Given the description of an element on the screen output the (x, y) to click on. 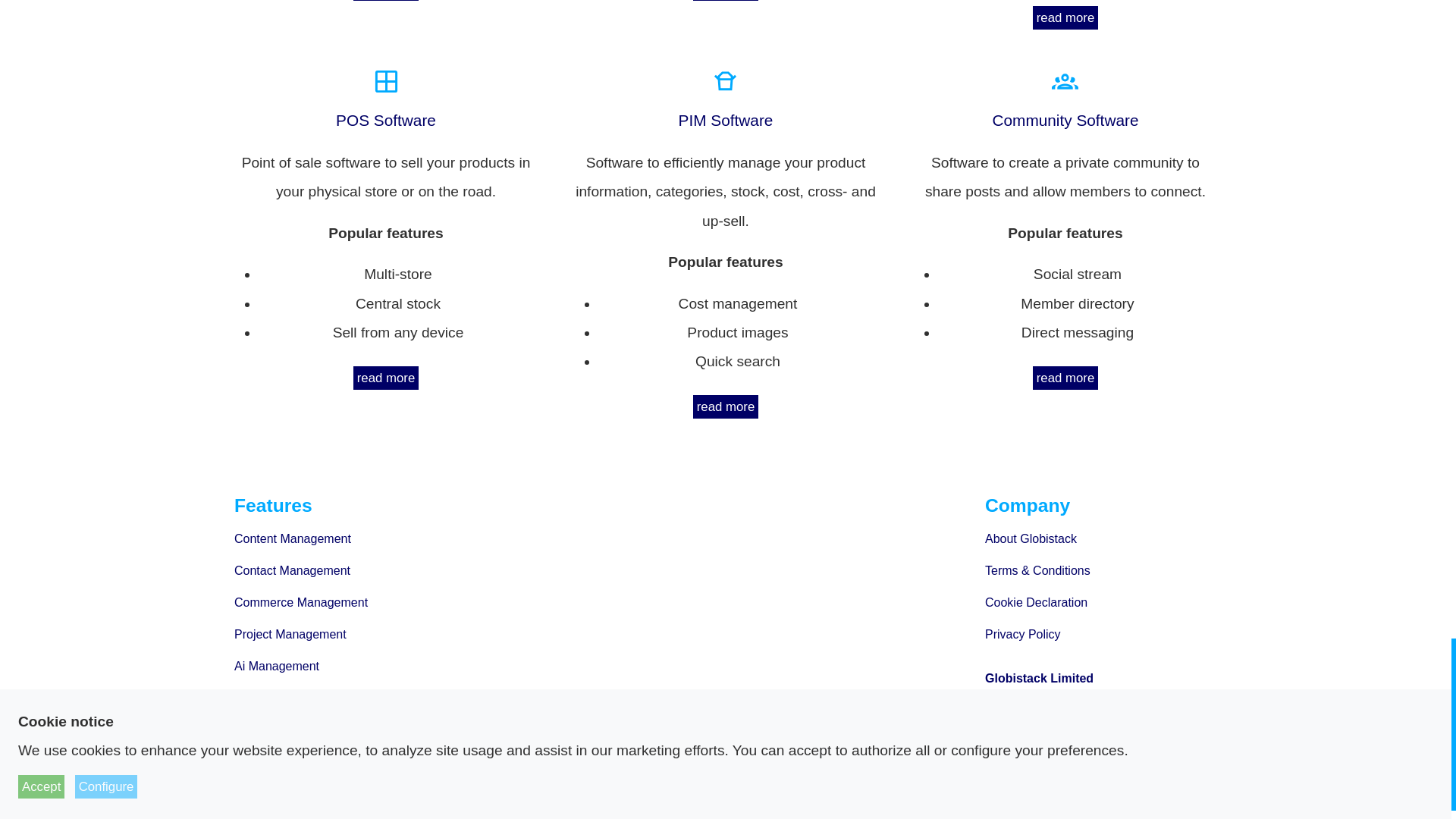
read more (386, 0)
Project Management (349, 634)
About Globistack (1101, 539)
Cookie Declaration (1101, 603)
Ai Management (349, 666)
Content Management (349, 539)
read more (1064, 17)
Contact Management (349, 571)
Marketing Management (349, 762)
Learning Management (349, 698)
